Given the description of an element on the screen output the (x, y) to click on. 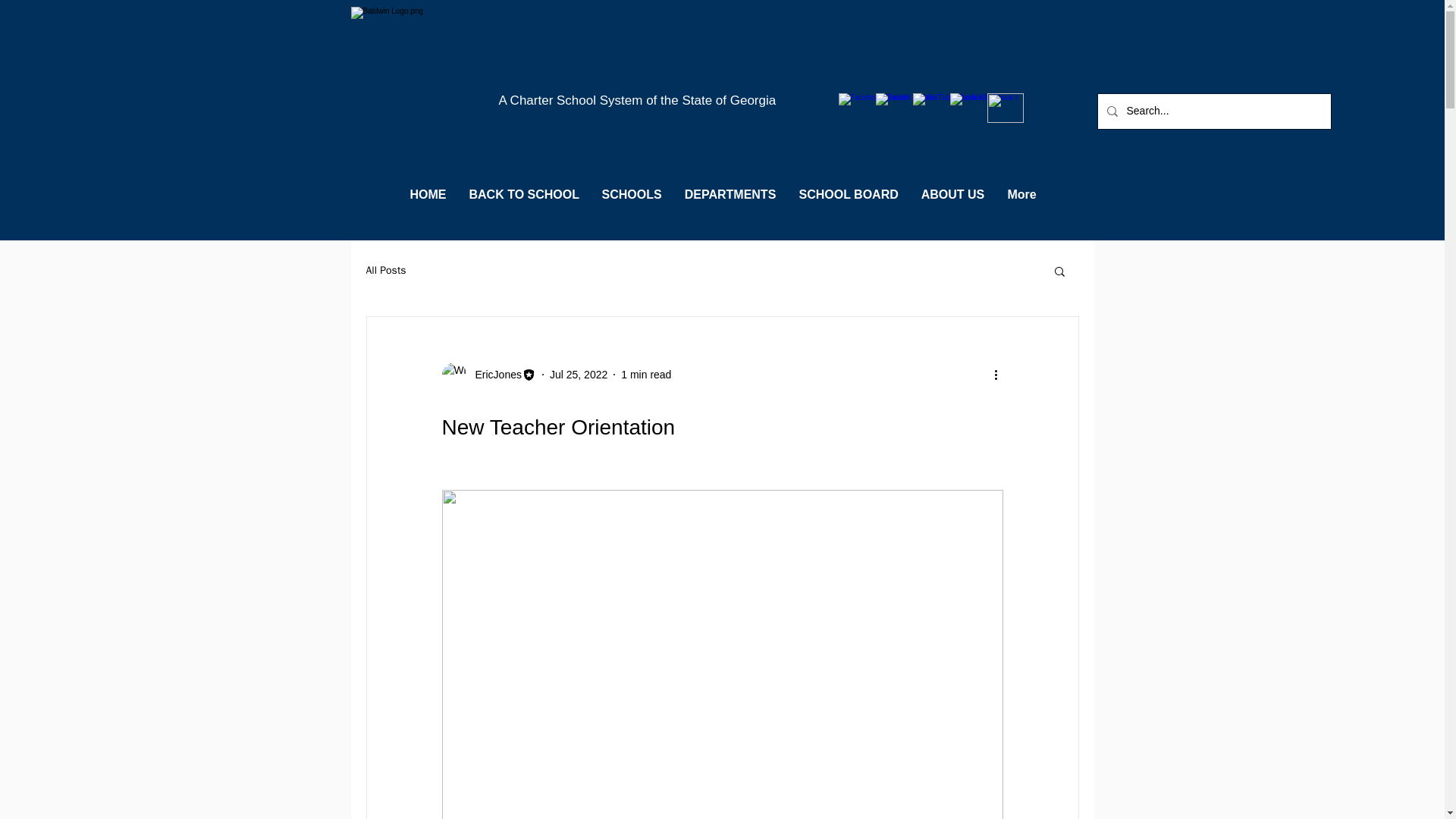
HOME (428, 194)
eBOARD 'e' favicon.png (1005, 107)
EricJones (493, 374)
DEPARTMENTS (729, 194)
1 min read (646, 374)
Jul 25, 2022 (578, 374)
BACK TO SCHOOL (524, 194)
SCHOOLS (630, 194)
